Given the description of an element on the screen output the (x, y) to click on. 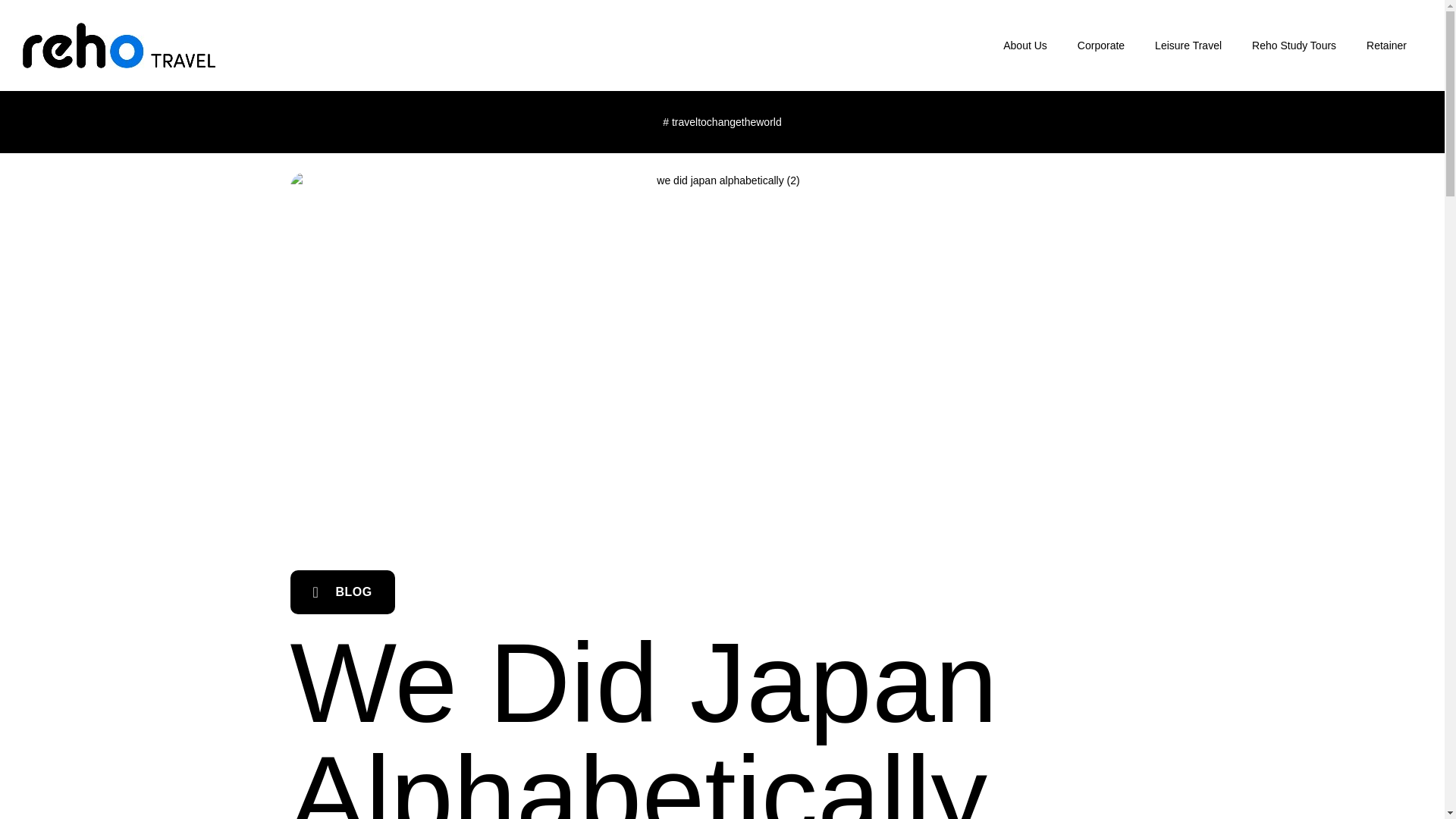
Retainer (1386, 45)
Corporate (1101, 45)
Leisure Travel (1188, 45)
About Us (1025, 45)
Reho Study Tours (1293, 45)
